Given the description of an element on the screen output the (x, y) to click on. 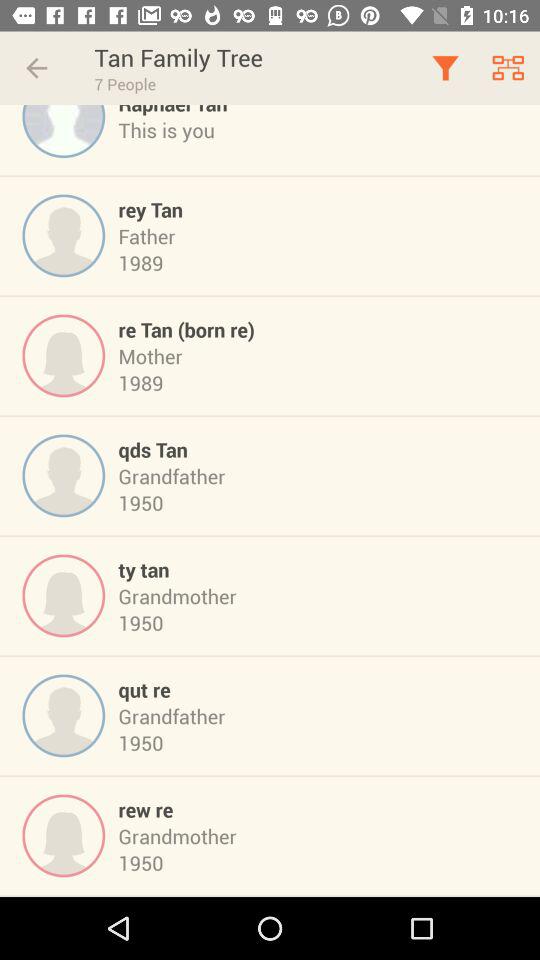
click item to the right of the tan family tree icon (444, 67)
